Given the description of an element on the screen output the (x, y) to click on. 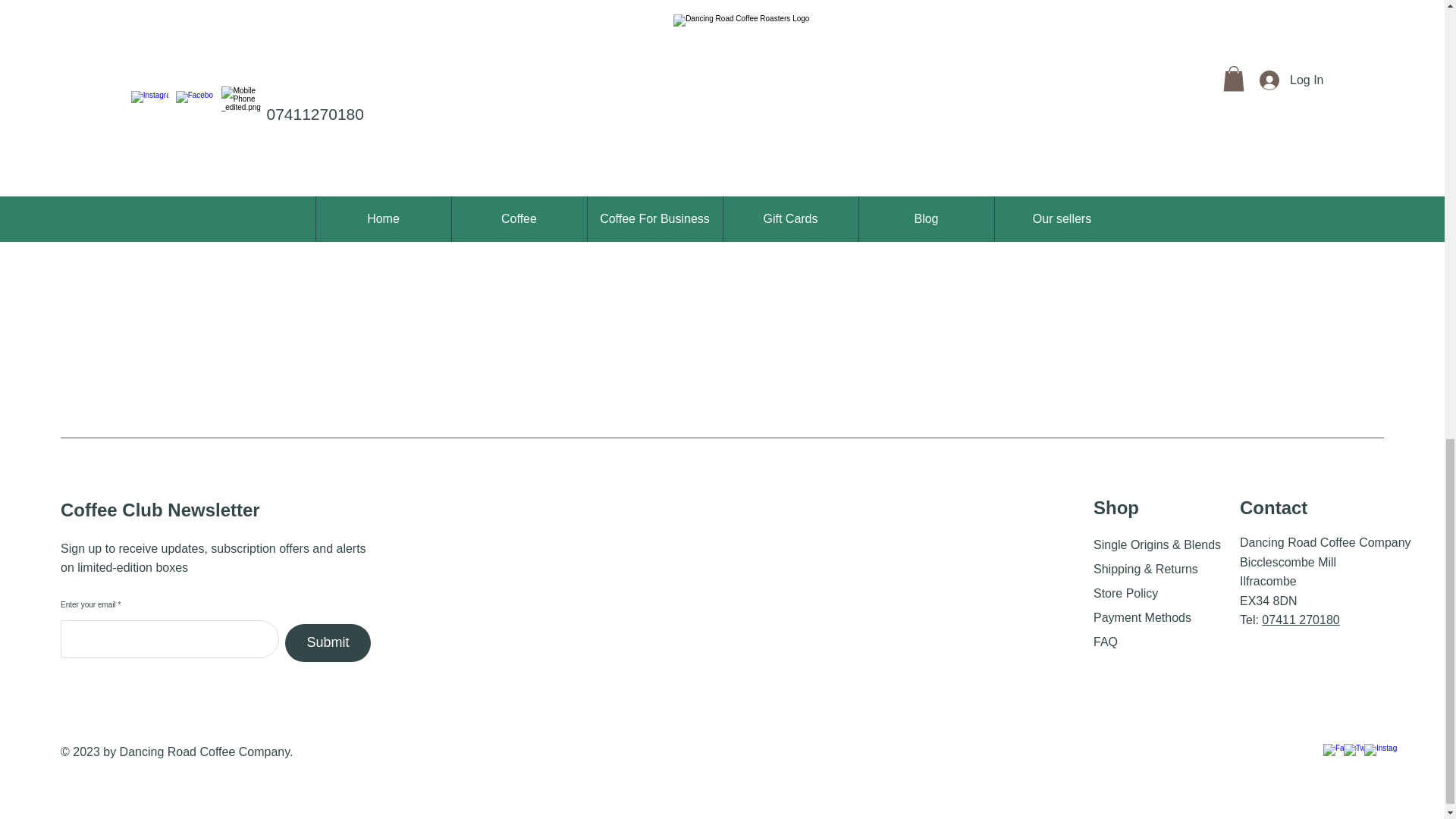
Submit (328, 642)
Store Policy  (1127, 593)
FAQ (1105, 641)
Payment Methods (1142, 617)
07411 270180 (1300, 619)
